Given the description of an element on the screen output the (x, y) to click on. 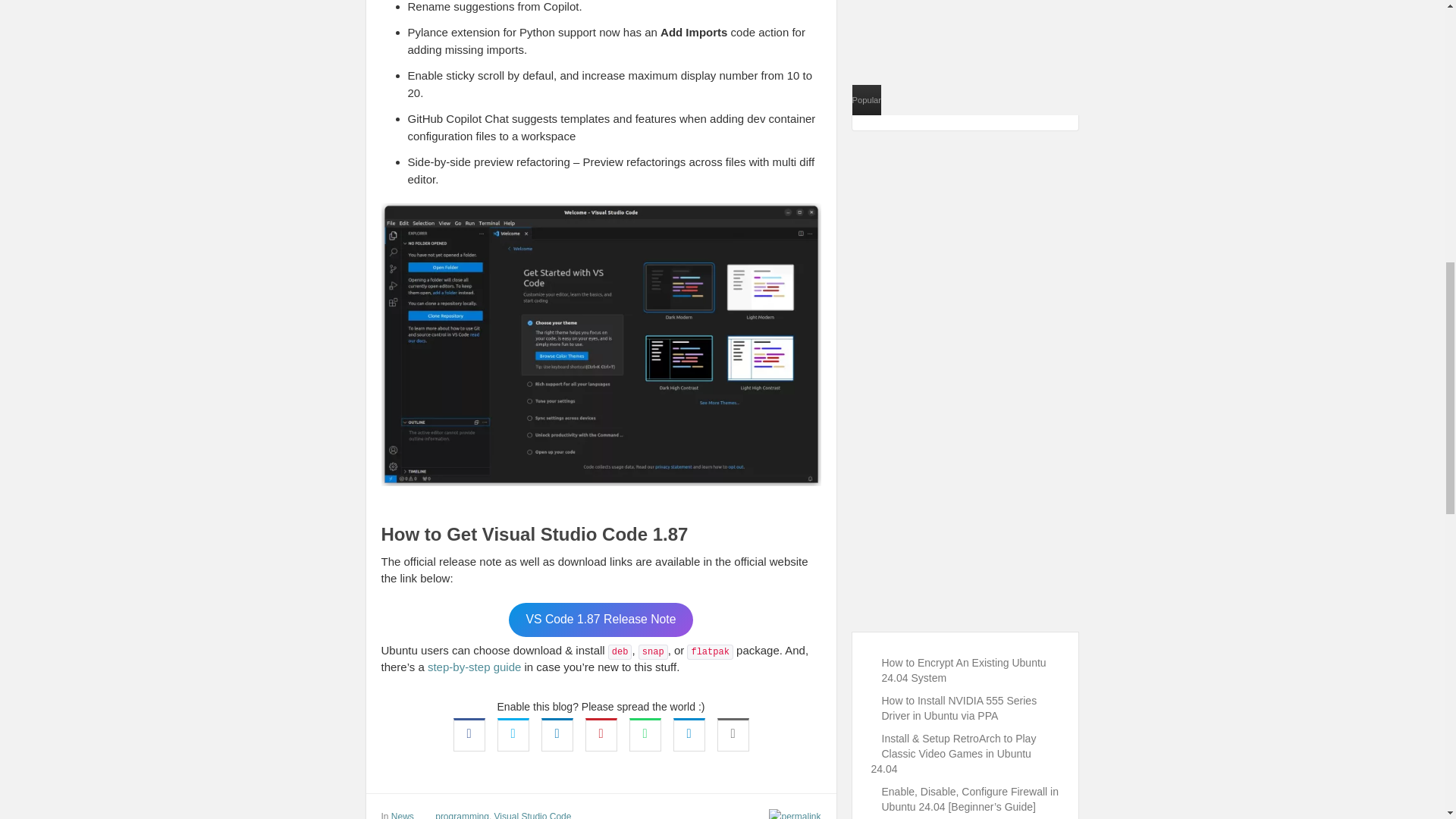
VS Code 1.87 Release Note (601, 619)
step-by-step guide (474, 666)
permalink (789, 813)
programming (462, 815)
News (402, 815)
Visual Studio Code (533, 815)
